Given the description of an element on the screen output the (x, y) to click on. 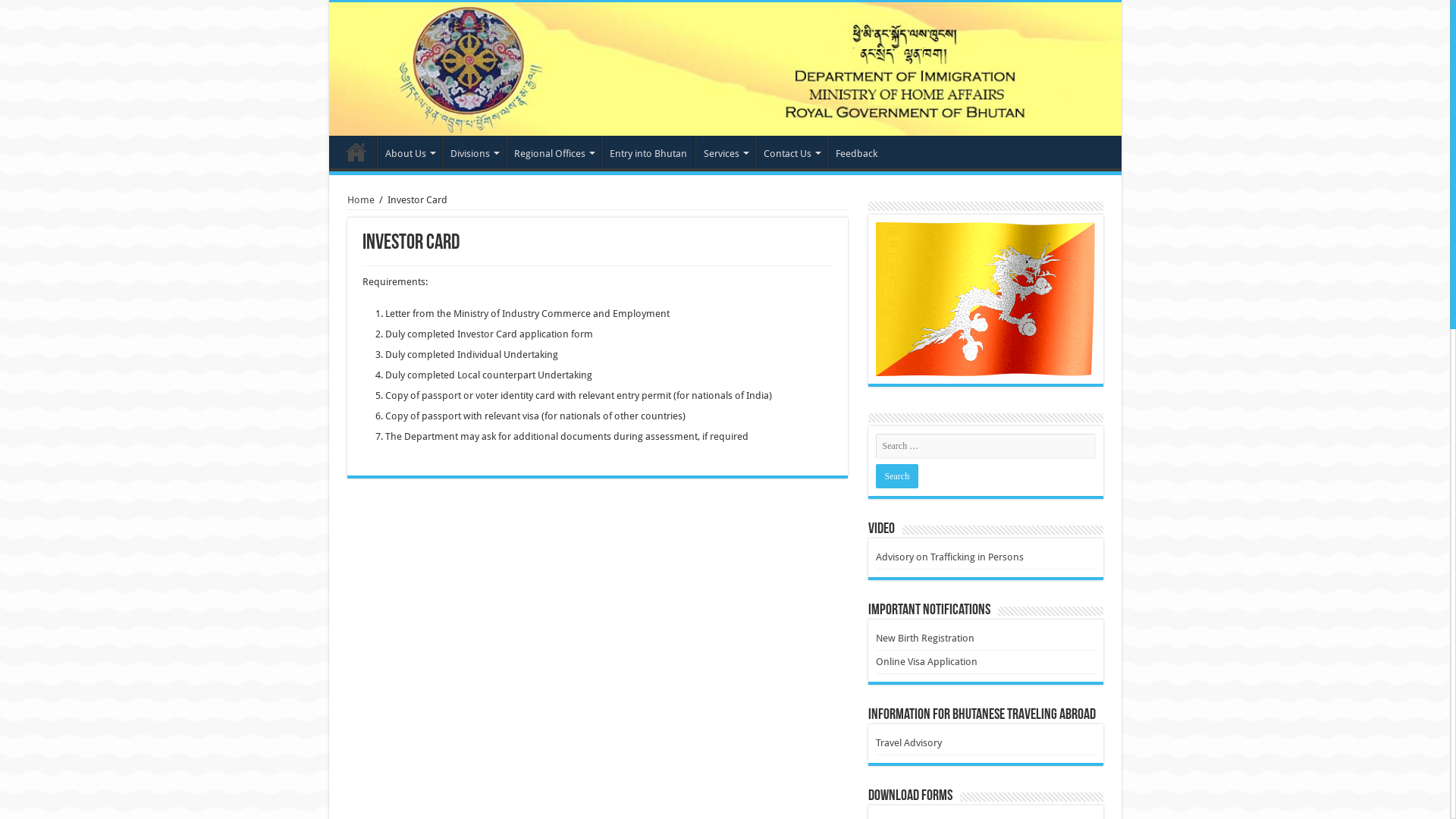
Department of Immigration, Ministry of Home Affairs Element type: hover (725, 68)
Advisory on Trafficking in Persons Element type: text (948, 556)
Entry into Bhutan Element type: text (646, 151)
Home Element type: text (356, 151)
About Us Element type: text (408, 151)
Contact Us Element type: text (790, 151)
Divisions Element type: text (472, 151)
Search Element type: text (896, 476)
Travel Advisory Element type: text (908, 742)
Services Element type: text (723, 151)
Online Visa Application Element type: text (925, 661)
Regional Offices Element type: text (552, 151)
New Birth Registration Element type: text (924, 637)
Feedback Element type: text (855, 151)
Home Element type: text (360, 199)
